Given the description of an element on the screen output the (x, y) to click on. 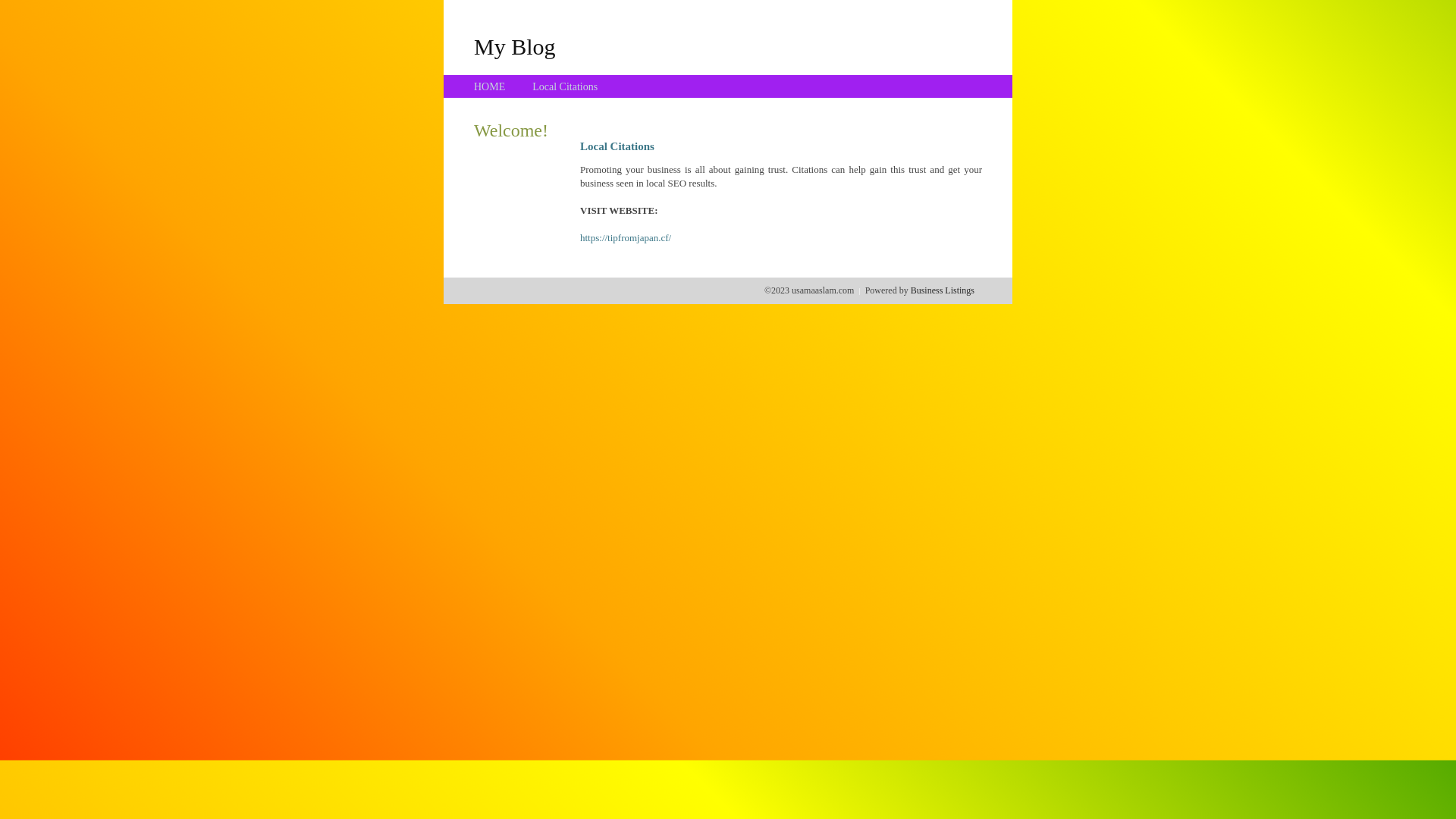
My Blog Element type: text (514, 46)
Business Listings Element type: text (942, 290)
HOME Element type: text (489, 86)
https://tipfromjapan.cf/ Element type: text (625, 237)
Local Citations Element type: text (564, 86)
